Given the description of an element on the screen output the (x, y) to click on. 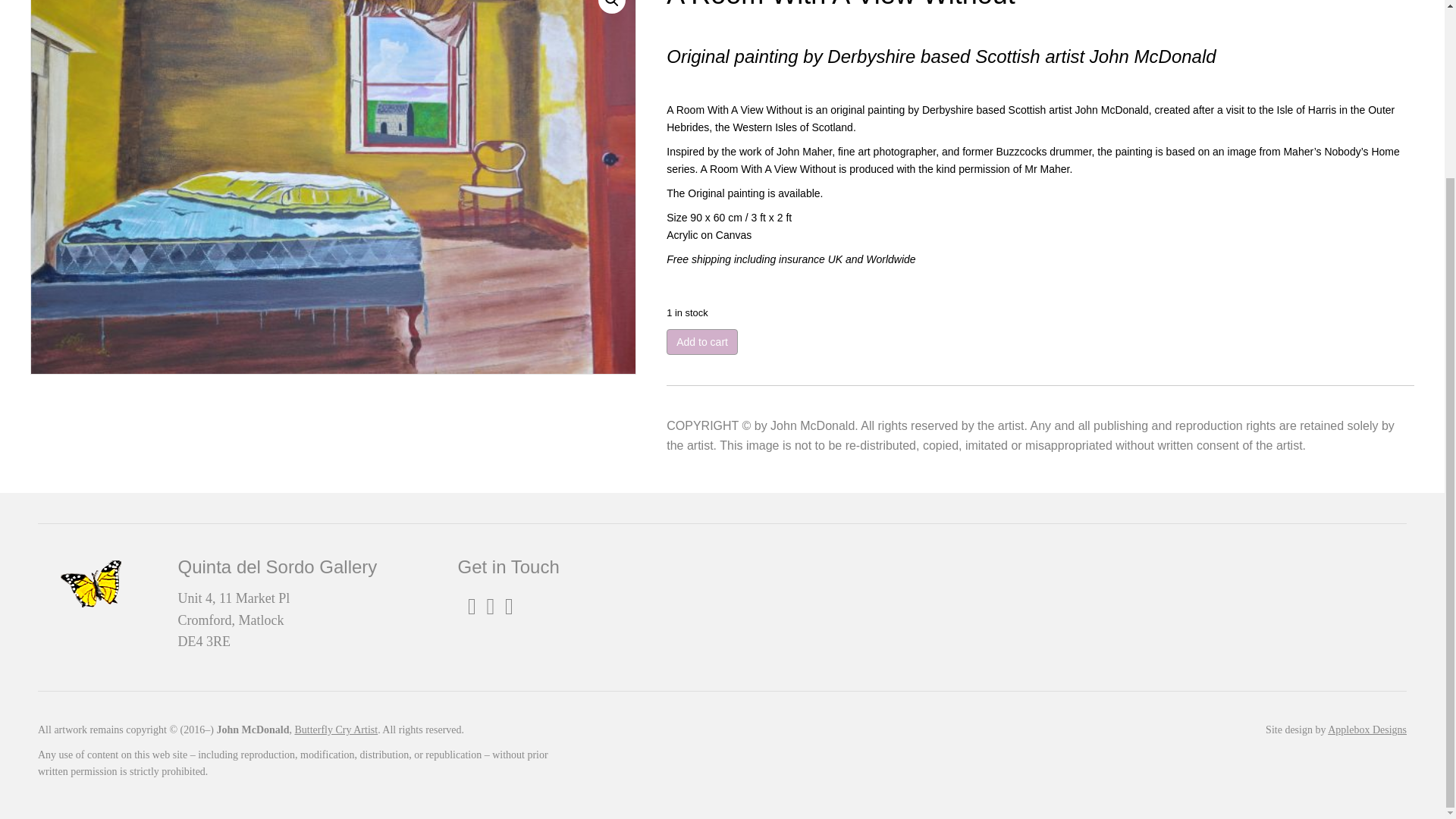
Butterfly Cry Artist (335, 729)
Applebox Designs (1366, 729)
Add to cart (702, 341)
